Given the description of an element on the screen output the (x, y) to click on. 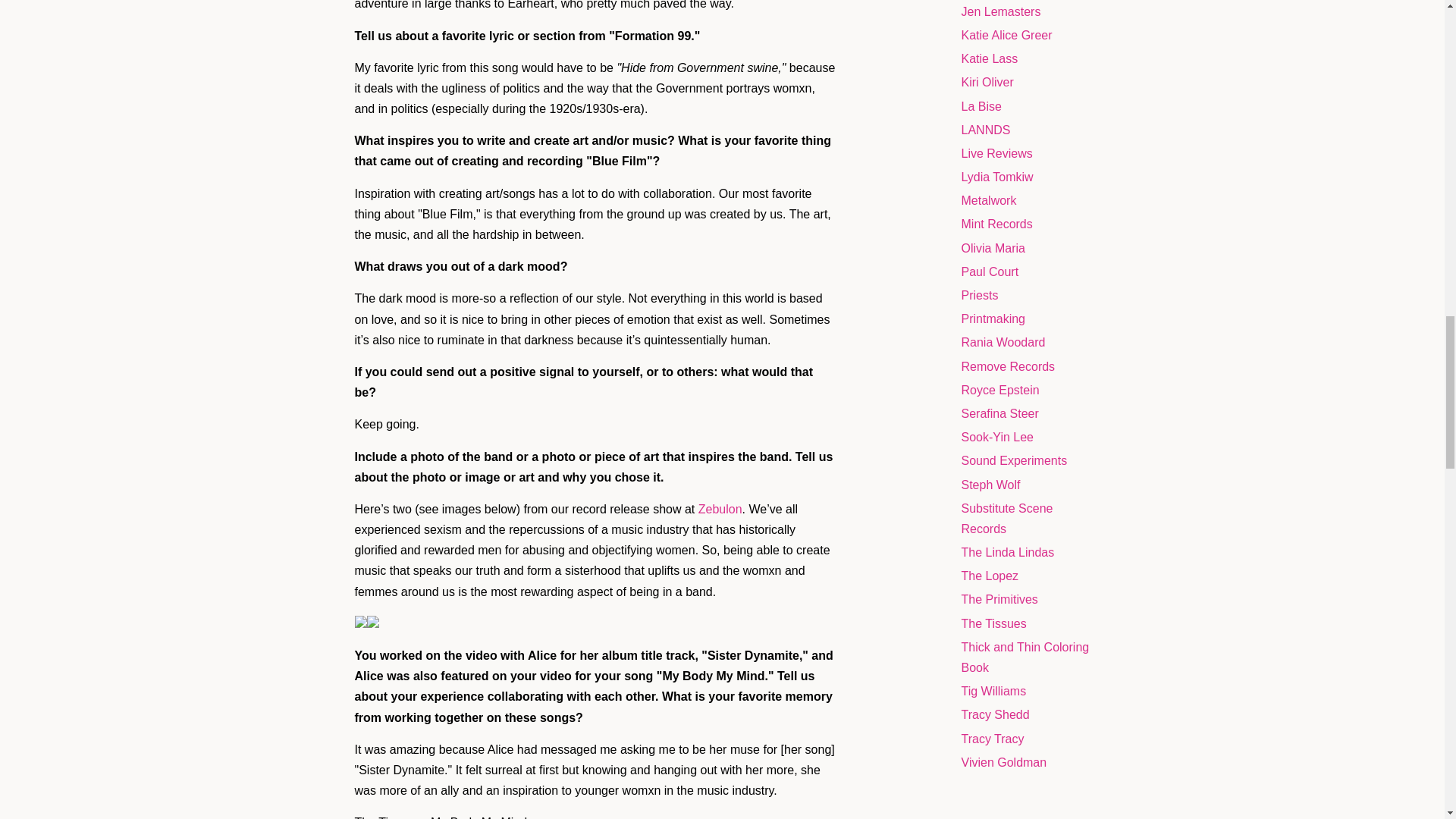
Zebulon Los Angeles Concert Cafe (720, 508)
